Given the description of an element on the screen output the (x, y) to click on. 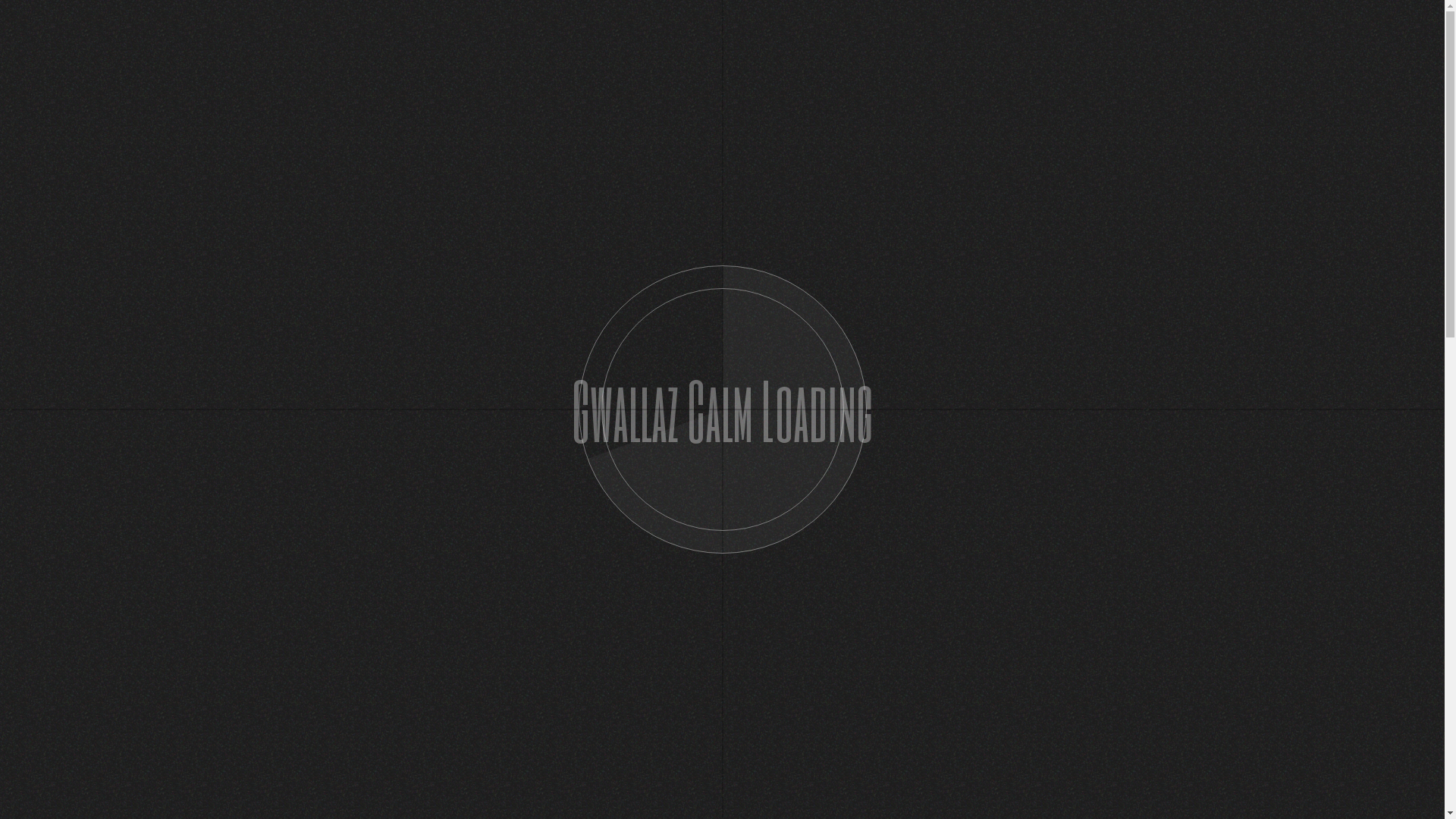
HERE. Element type: text (535, 435)
